Given the description of an element on the screen output the (x, y) to click on. 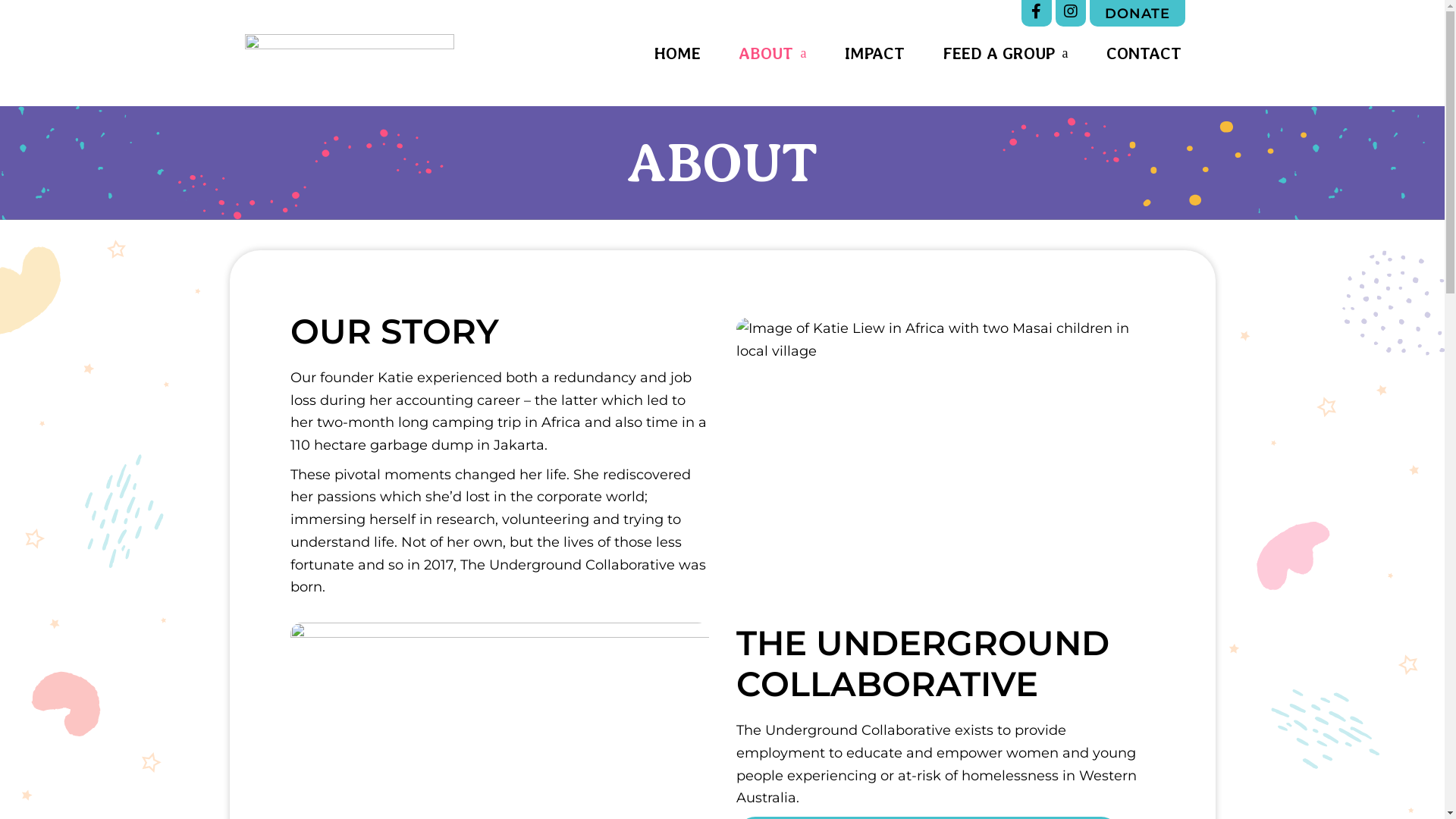
IMPACT Element type: text (874, 52)
FEED A GROUP Element type: text (1004, 52)
HOME Element type: text (676, 52)
ABOUT Element type: text (772, 52)
CONTACT Element type: text (1142, 52)
